Given the description of an element on the screen output the (x, y) to click on. 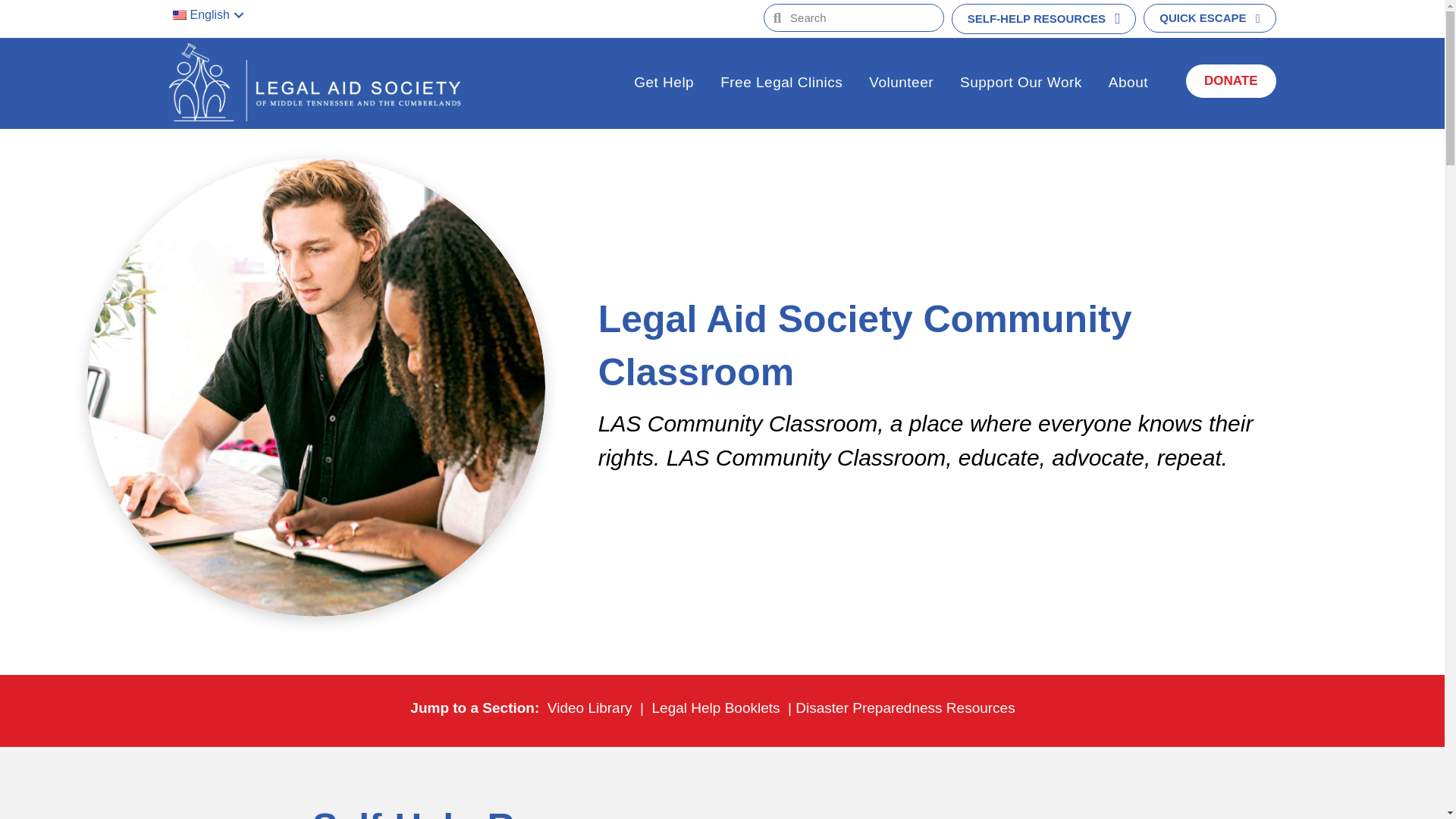
Get Help (663, 84)
English (211, 14)
DONATE (1231, 80)
About (1128, 84)
Search (861, 17)
English (179, 14)
Pexels Mart Production 7329674 (934, 813)
QUICK ESCAPE (1208, 18)
Free Legal Clinics (781, 84)
